Given the description of an element on the screen output the (x, y) to click on. 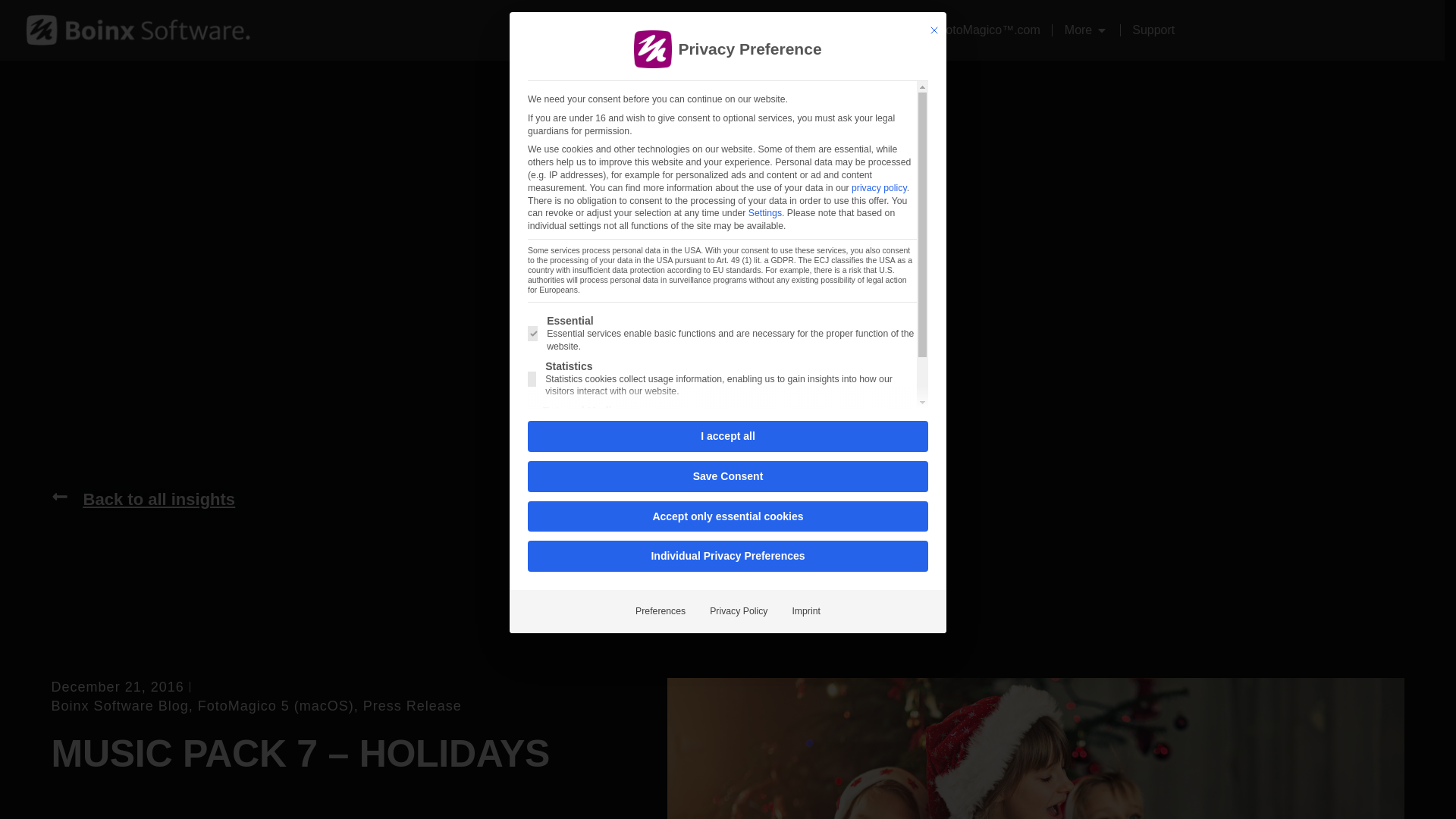
Press Release (411, 705)
Back to all insights (142, 499)
Home (524, 30)
December 21, 2016 (117, 687)
Boinx Software Blog (119, 705)
Support (1153, 30)
iStopMotion.com (716, 30)
